Given the description of an element on the screen output the (x, y) to click on. 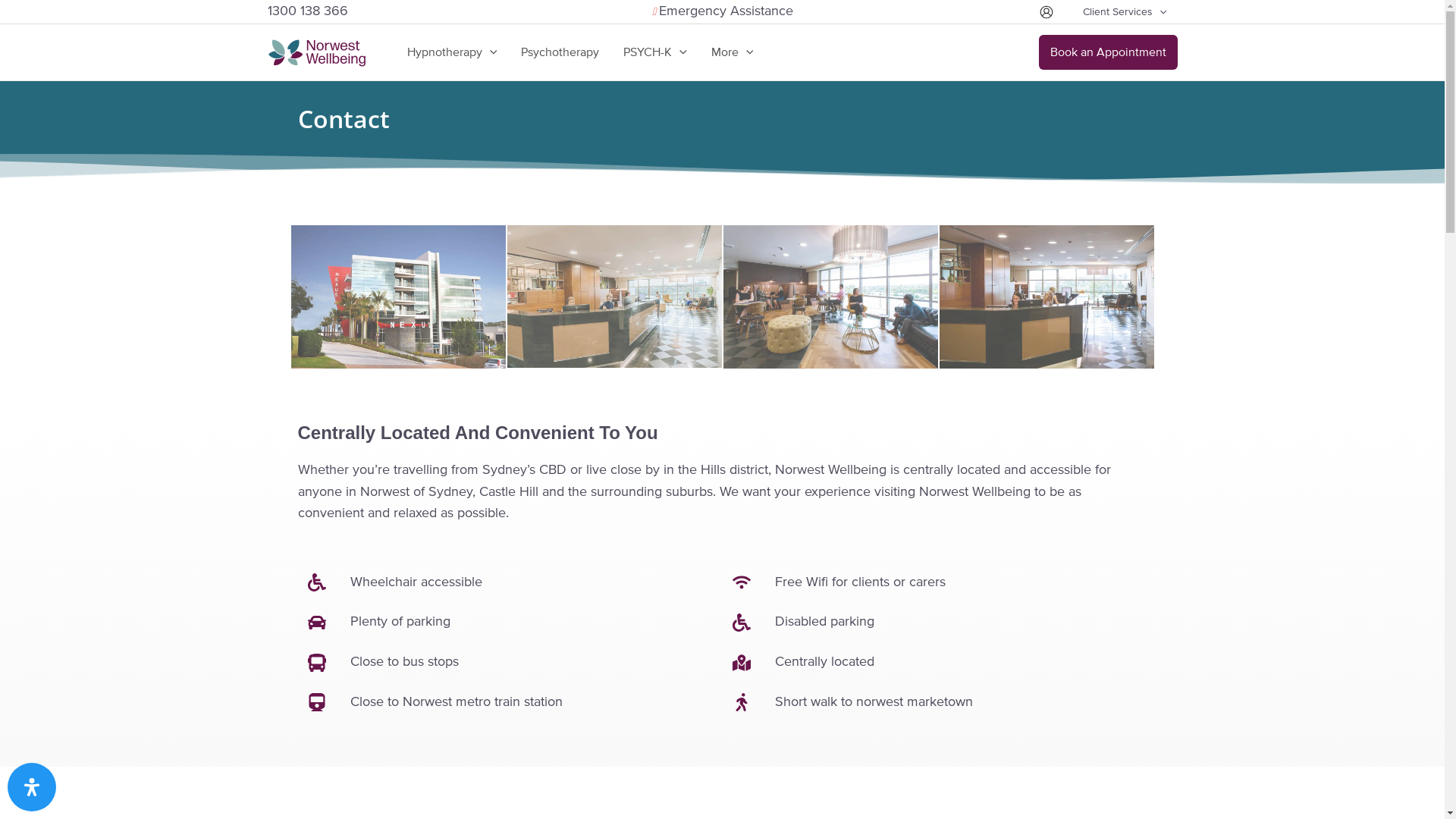
1300 138 366 Element type: text (306, 11)
Contact 4 Element type: hover (1045, 296)
Contact 1 Element type: hover (398, 296)
Short walk to norwest marketown Element type: text (934, 702)
Close to bus stops Element type: text (509, 662)
Emergency Assistance Element type: text (725, 11)
Client Services Element type: text (1124, 11)
Psychotherapy Element type: text (559, 52)
Contact 3 Element type: hover (830, 296)
Contact 2 Element type: hover (613, 296)
Plenty of parking Element type: text (509, 622)
Book an Appointment Element type: text (1107, 51)
Disabled parking Element type: text (934, 622)
Accessibility Element type: hover (31, 786)
PSYCH-K Element type: text (655, 52)
Close to Norwest metro train station Element type: text (509, 702)
More Element type: text (732, 52)
Hypnotherapy Element type: text (451, 52)
